Given the description of an element on the screen output the (x, y) to click on. 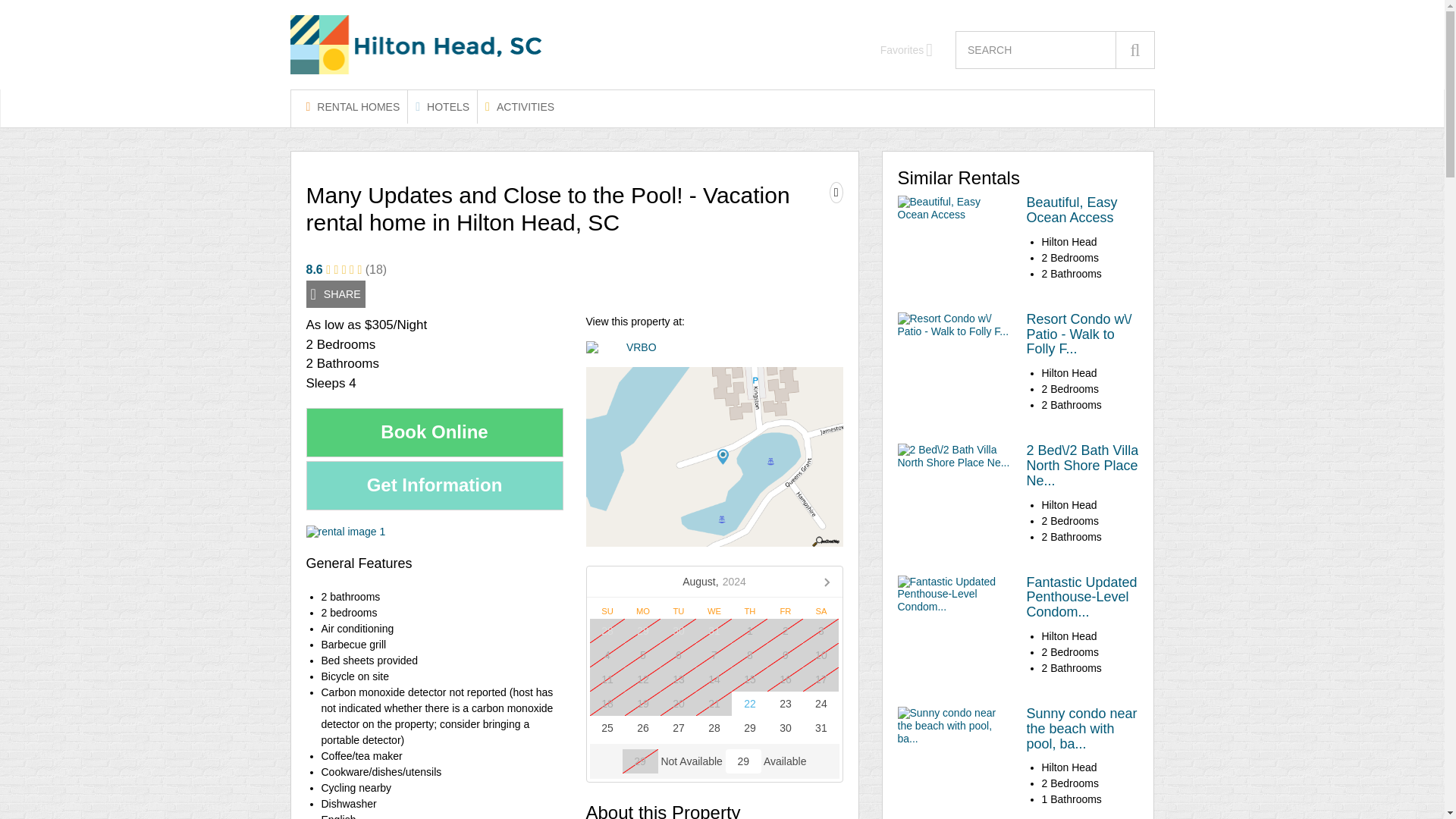
Beautiful, Easy Ocean Access (1072, 209)
RENTAL HOMES (352, 106)
HOTELS (442, 106)
SHARE (335, 293)
Book Online (434, 432)
Favorites (906, 49)
ACTIVITIES (519, 106)
Get Information (434, 485)
